Given the description of an element on the screen output the (x, y) to click on. 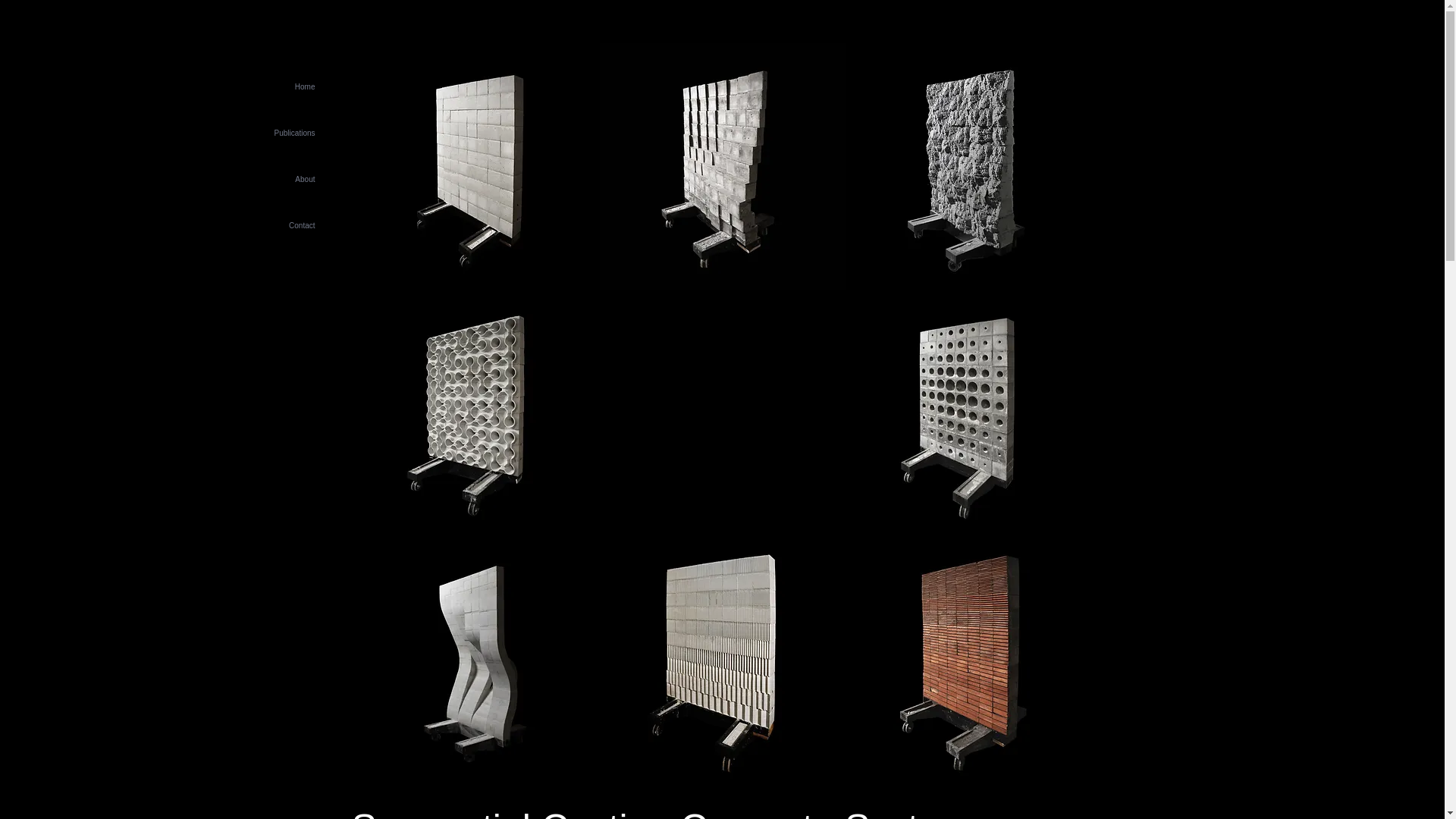
About (261, 179)
Home (261, 86)
Publications (261, 132)
Contact (261, 225)
